Given the description of an element on the screen output the (x, y) to click on. 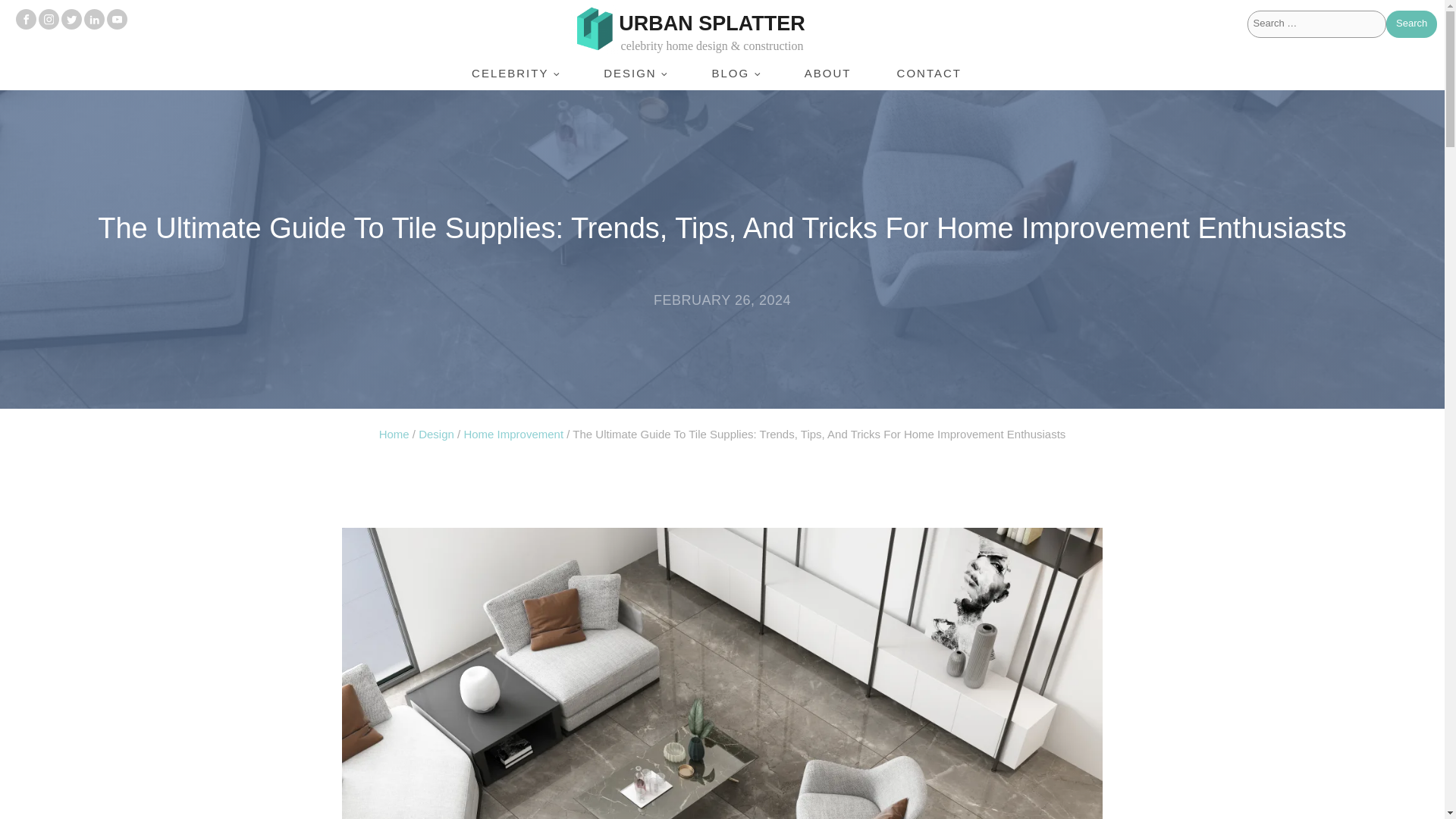
BLOG (734, 73)
Search (1411, 23)
CELEBRITY (514, 73)
Search (1411, 23)
DESIGN (634, 73)
Search (1411, 23)
